Given the description of an element on the screen output the (x, y) to click on. 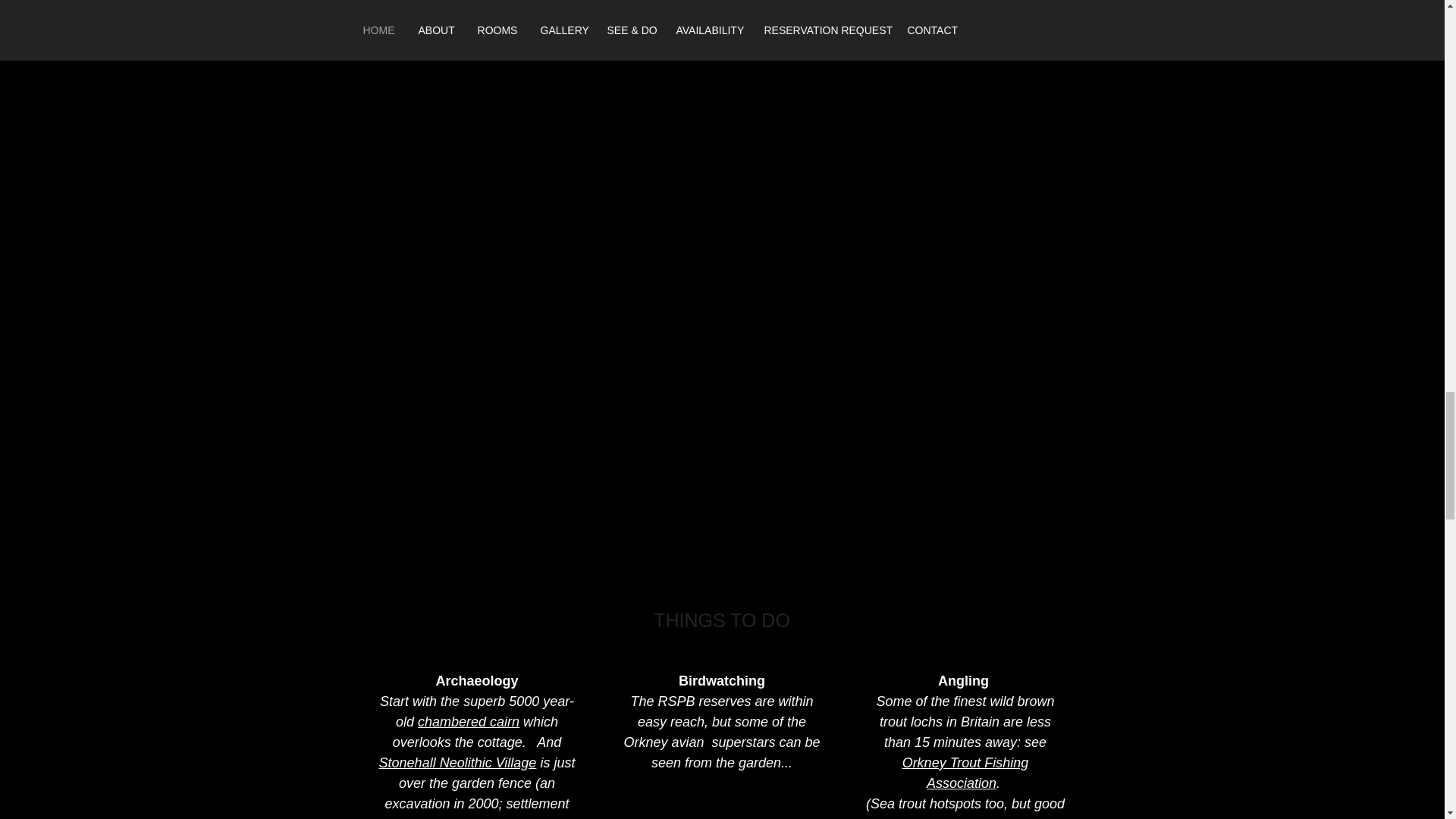
Stonehall Neolithic Village (457, 762)
Orkney Trout Fishing Association (965, 773)
chambered cairn (468, 721)
